Given the description of an element on the screen output the (x, y) to click on. 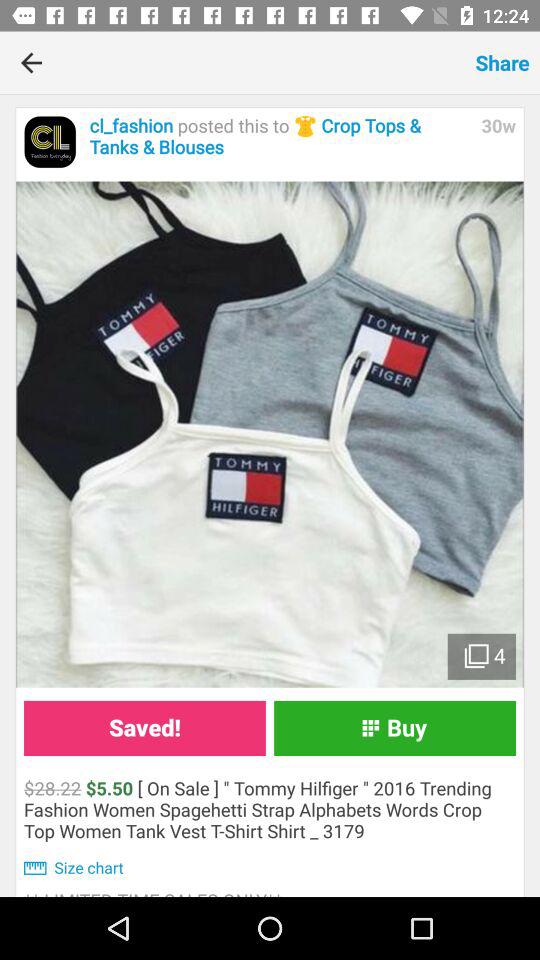
view images (269, 434)
